Given the description of an element on the screen output the (x, y) to click on. 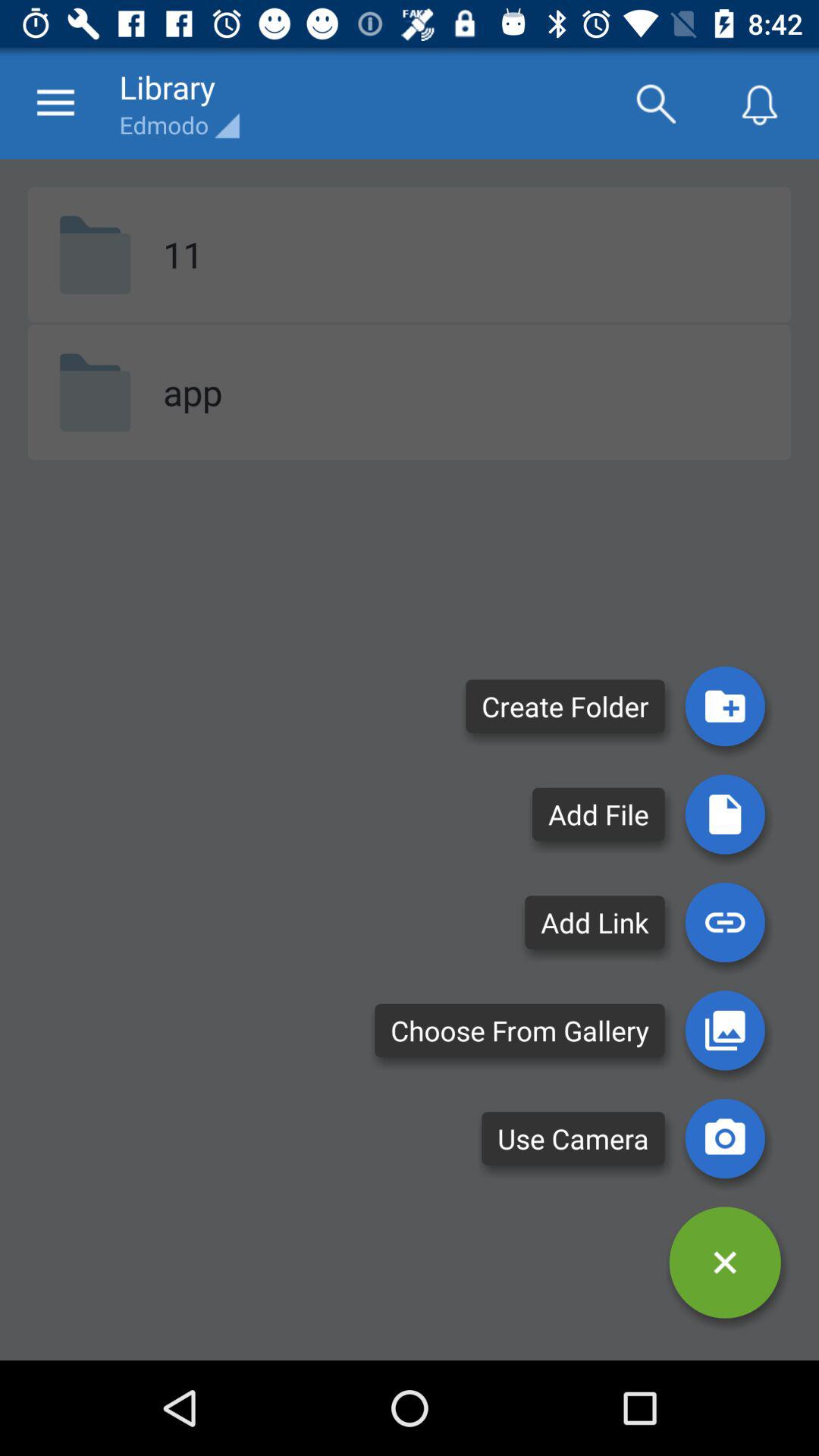
swipe until app item (192, 391)
